Given the description of an element on the screen output the (x, y) to click on. 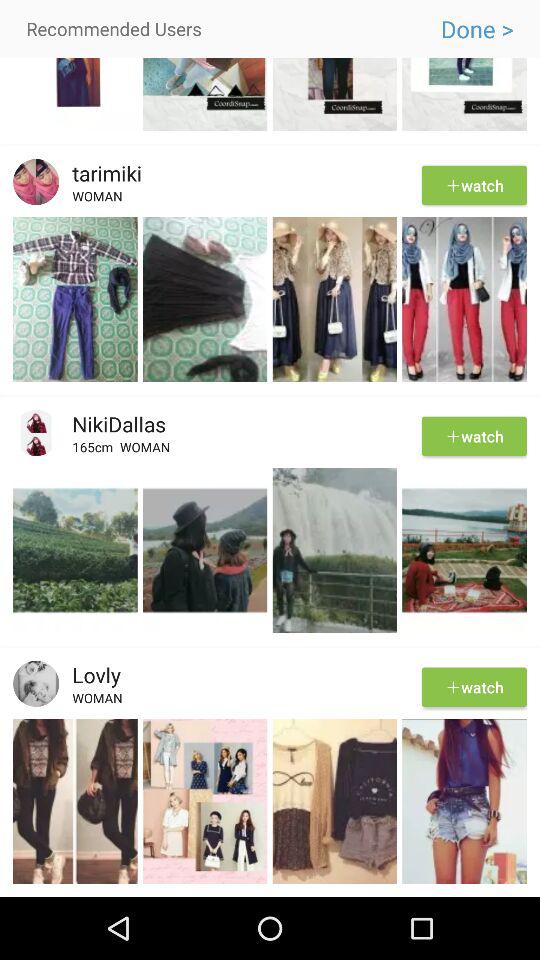
jump until the 165cm (96, 450)
